Given the description of an element on the screen output the (x, y) to click on. 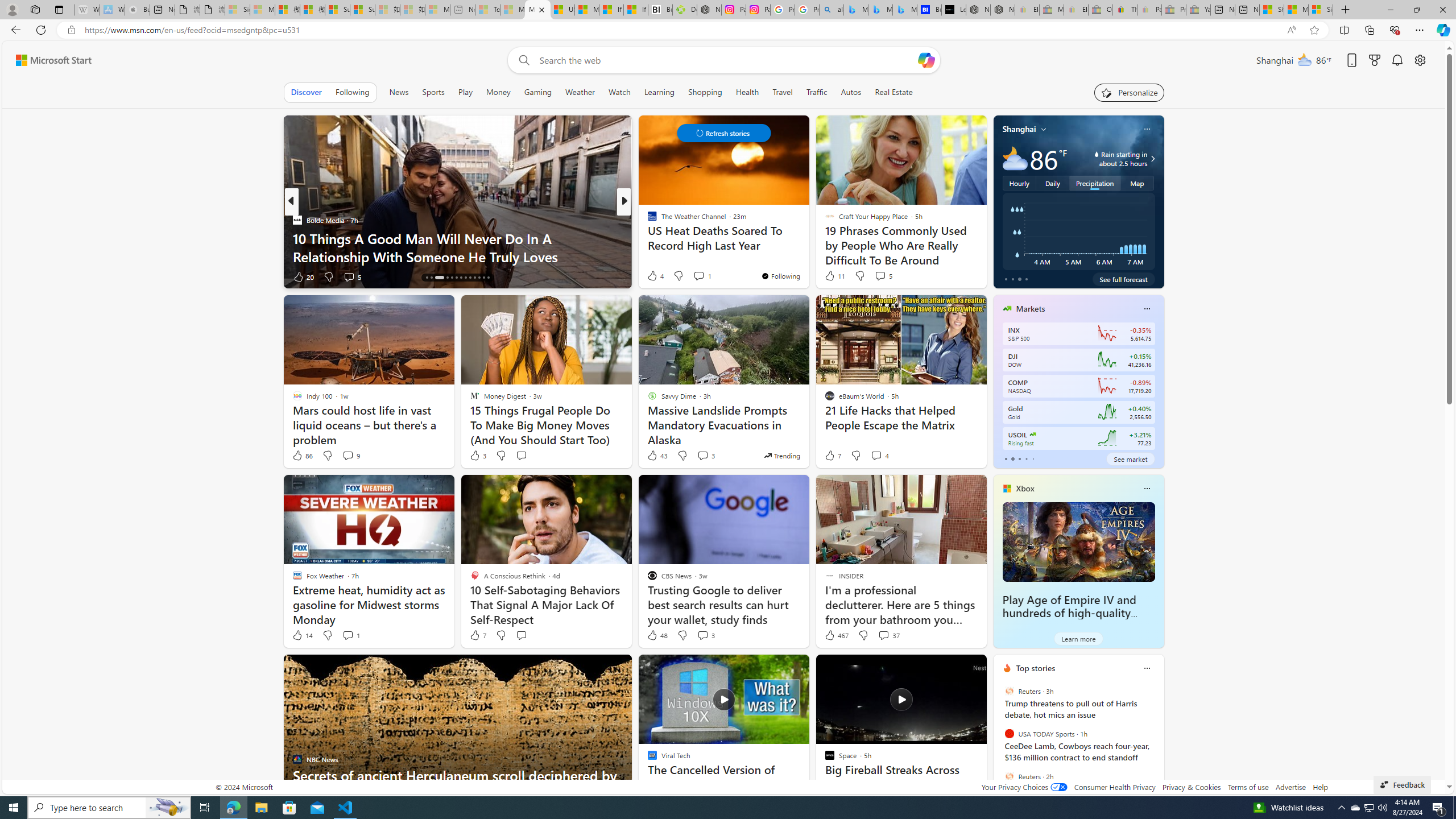
AutomationID: tab-15 (431, 277)
Learning (658, 92)
12 Like (652, 276)
You're following MSNBC (949, 279)
See full forecast (1123, 278)
Money (498, 92)
Health (746, 92)
BBC (647, 219)
